Given the description of an element on the screen output the (x, y) to click on. 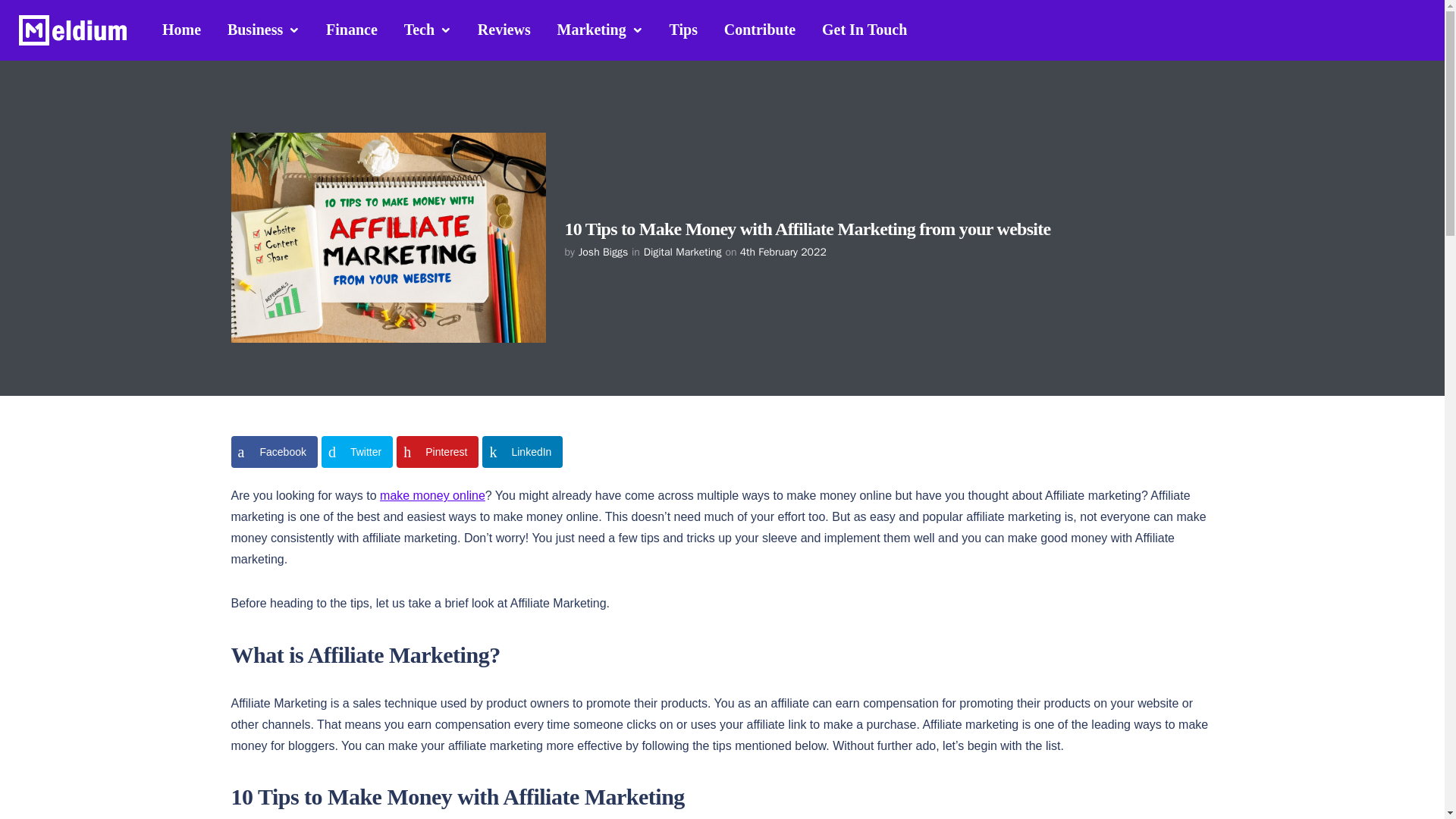
Marketing (599, 29)
Pinterest (437, 451)
Share on Pinterest (437, 451)
Share on Facebook (273, 451)
Reviews (503, 29)
Get In Touch (864, 29)
Digital Marketing (682, 251)
Josh Biggs (602, 251)
Business (263, 29)
LinkedIn (521, 451)
Share on Twitter (357, 451)
Twitter (357, 451)
Share on LinkedIn (521, 451)
Home (181, 29)
Facebook (273, 451)
